Given the description of an element on the screen output the (x, y) to click on. 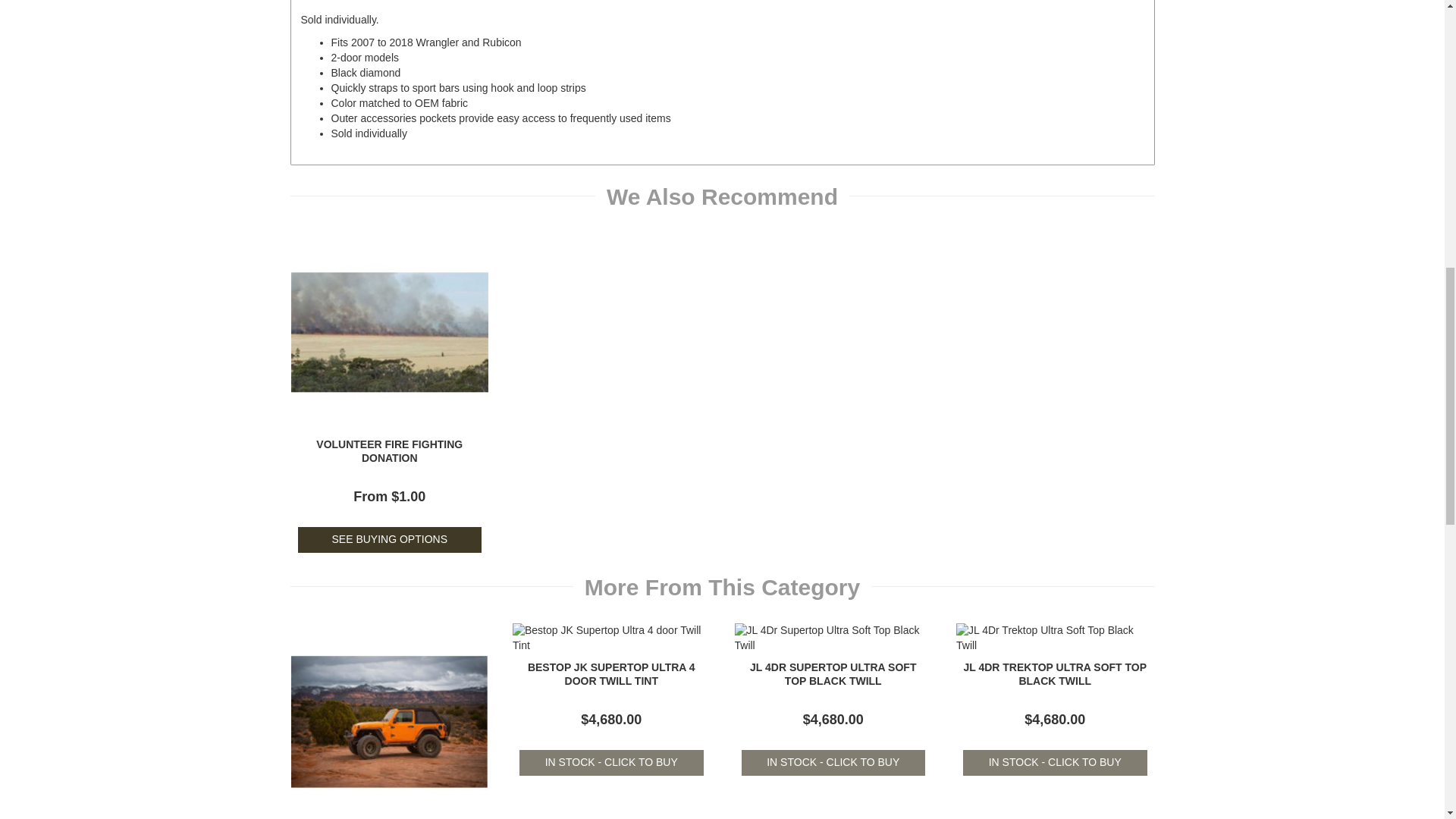
Buying Options (389, 539)
Add to Cart (833, 762)
Add to Cart (1054, 762)
JL 4Dr Trektop Ultra Soft Top Black Twill (1054, 673)
JL 4Dr Supertop Ultra Soft Top Black Twill (832, 673)
Add to Cart (611, 762)
Bestop JK Supertop Ultra 4 door Twill Tint (611, 673)
Volunteer Fire Fighting Donation (389, 451)
